Given the description of an element on the screen output the (x, y) to click on. 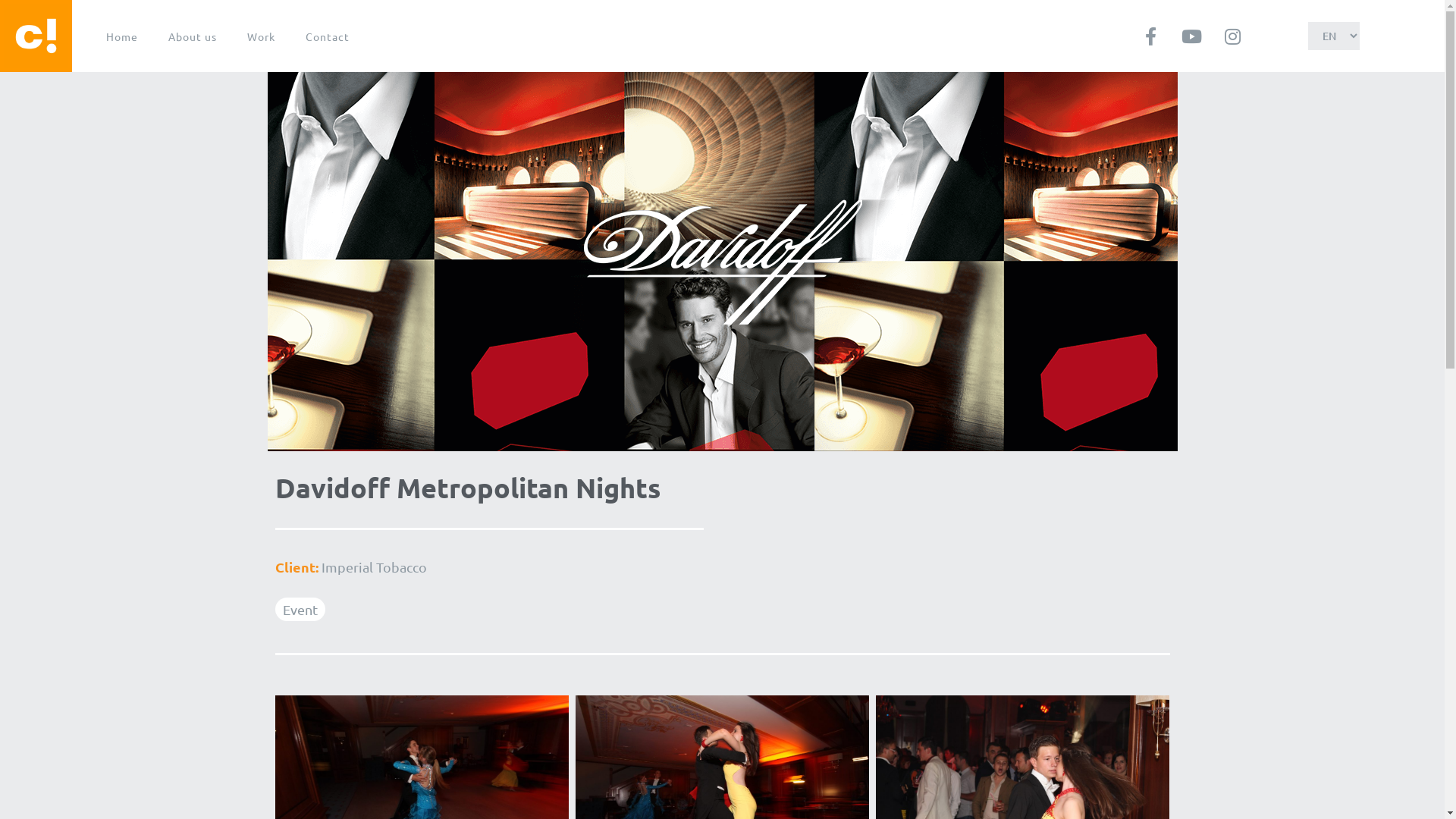
Work Element type: text (261, 36)
Event Element type: text (299, 609)
About us Element type: text (192, 36)
Home Element type: text (122, 36)
Contact Element type: text (327, 36)
